Given the description of an element on the screen output the (x, y) to click on. 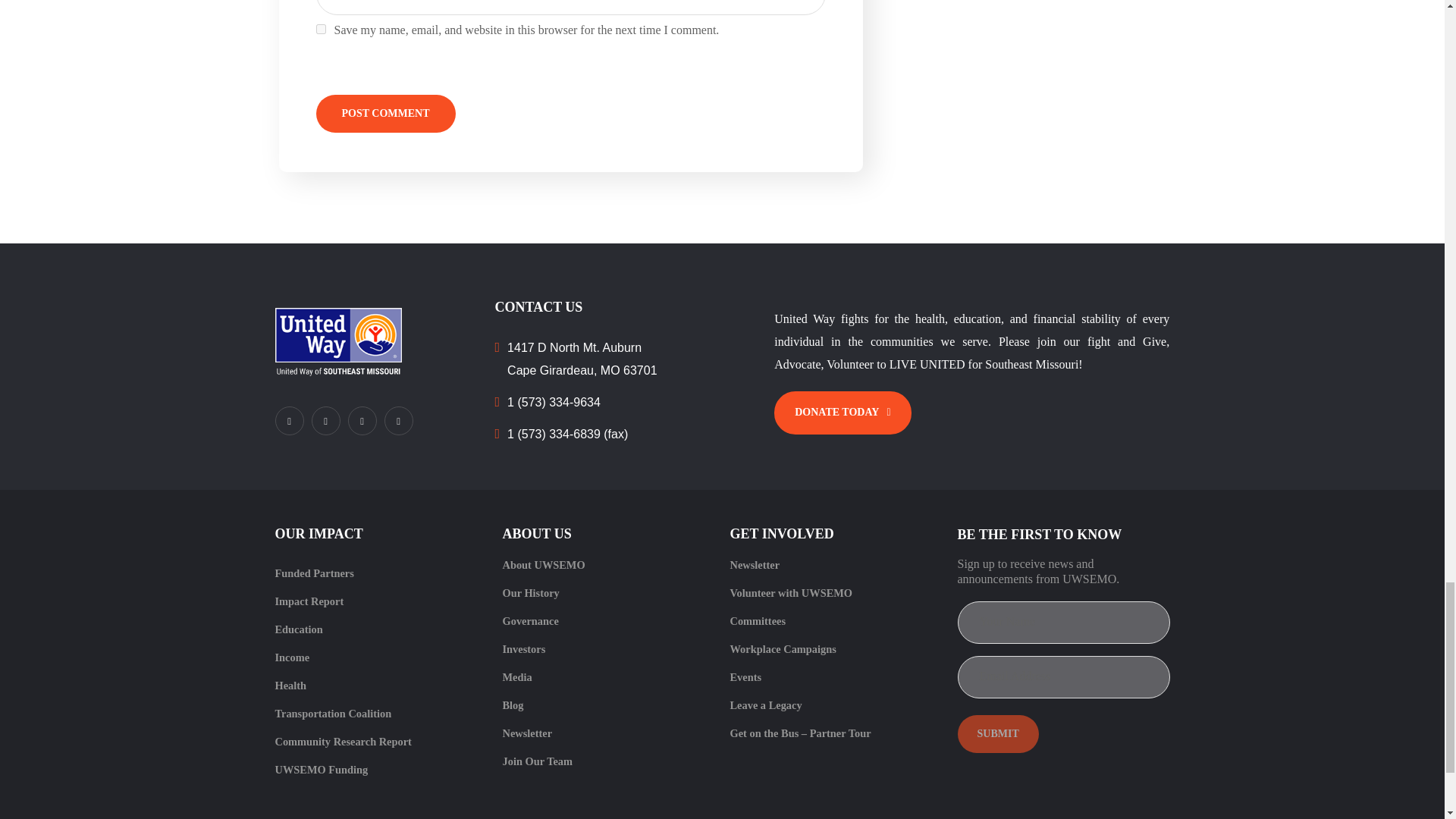
Facebook (288, 420)
Post Comment (384, 113)
yes (319, 29)
Submit (997, 733)
